Given the description of an element on the screen output the (x, y) to click on. 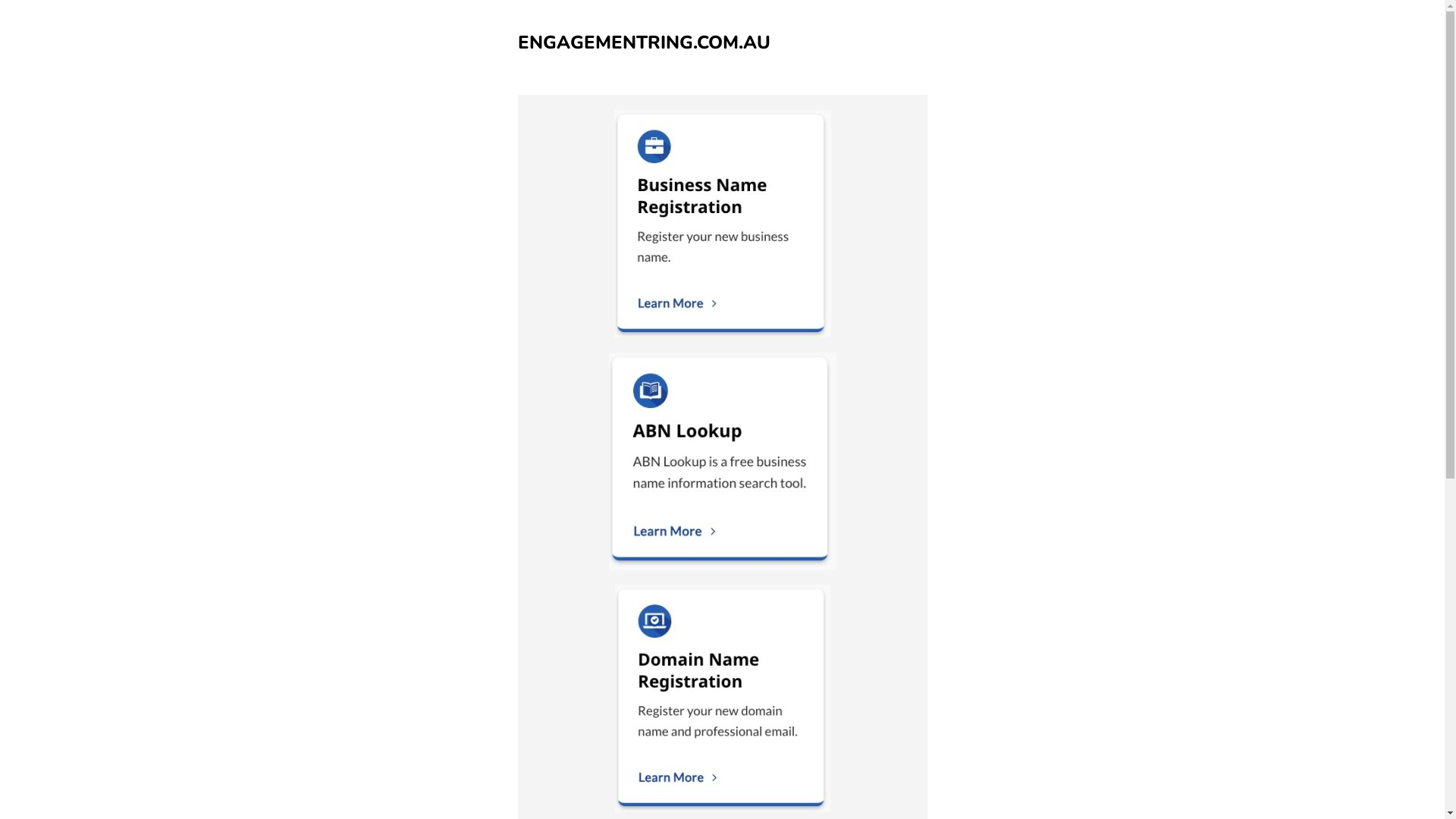
ENGAGEMENTRING.COM.AU Element type: text (643, 42)
